Given the description of an element on the screen output the (x, y) to click on. 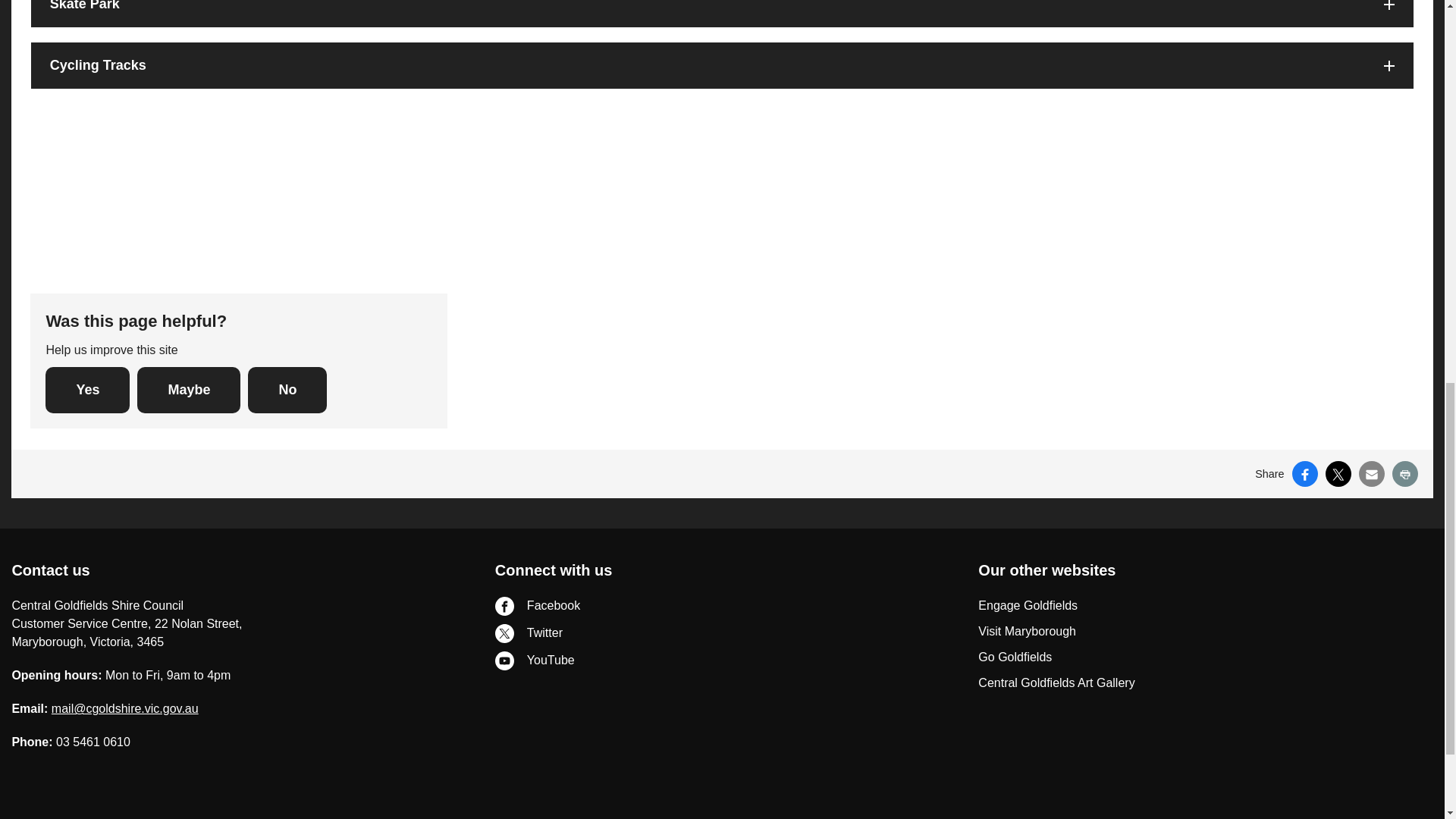
Yes, this page was helpful (87, 389)
No (286, 389)
No, this page was not helpful (286, 389)
Yes (87, 389)
Maybe (188, 389)
